Given the description of an element on the screen output the (x, y) to click on. 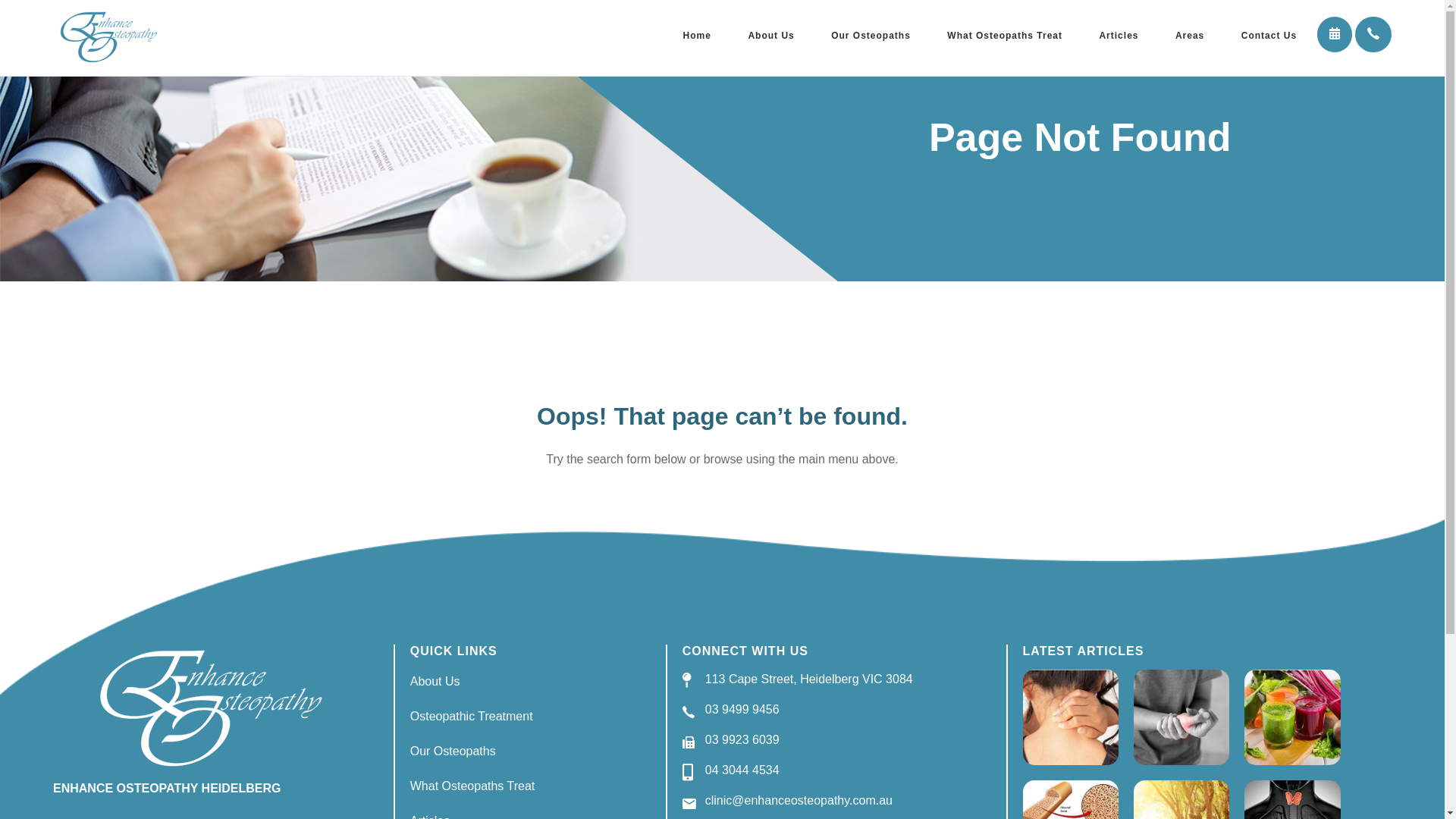
Areas Element type: text (1189, 34)
Our Osteopaths Element type: text (870, 34)
Our Osteopaths Element type: text (452, 750)
Skip to content Element type: text (0, 0)
About Us Element type: text (770, 34)
Home Element type: text (697, 34)
04 3044 4534 Element type: text (742, 769)
Articles Element type: text (1118, 34)
03 9499 9456 Element type: text (742, 708)
Contact Us Element type: text (1268, 34)
What Osteopaths Treat Element type: text (1004, 34)
Osteopathic Treatment Element type: text (471, 715)
What Osteopaths Treat Element type: text (472, 785)
clinic@enhanceosteopathy.com.au Element type: text (798, 799)
About Us Element type: text (435, 680)
